Given the description of an element on the screen output the (x, y) to click on. 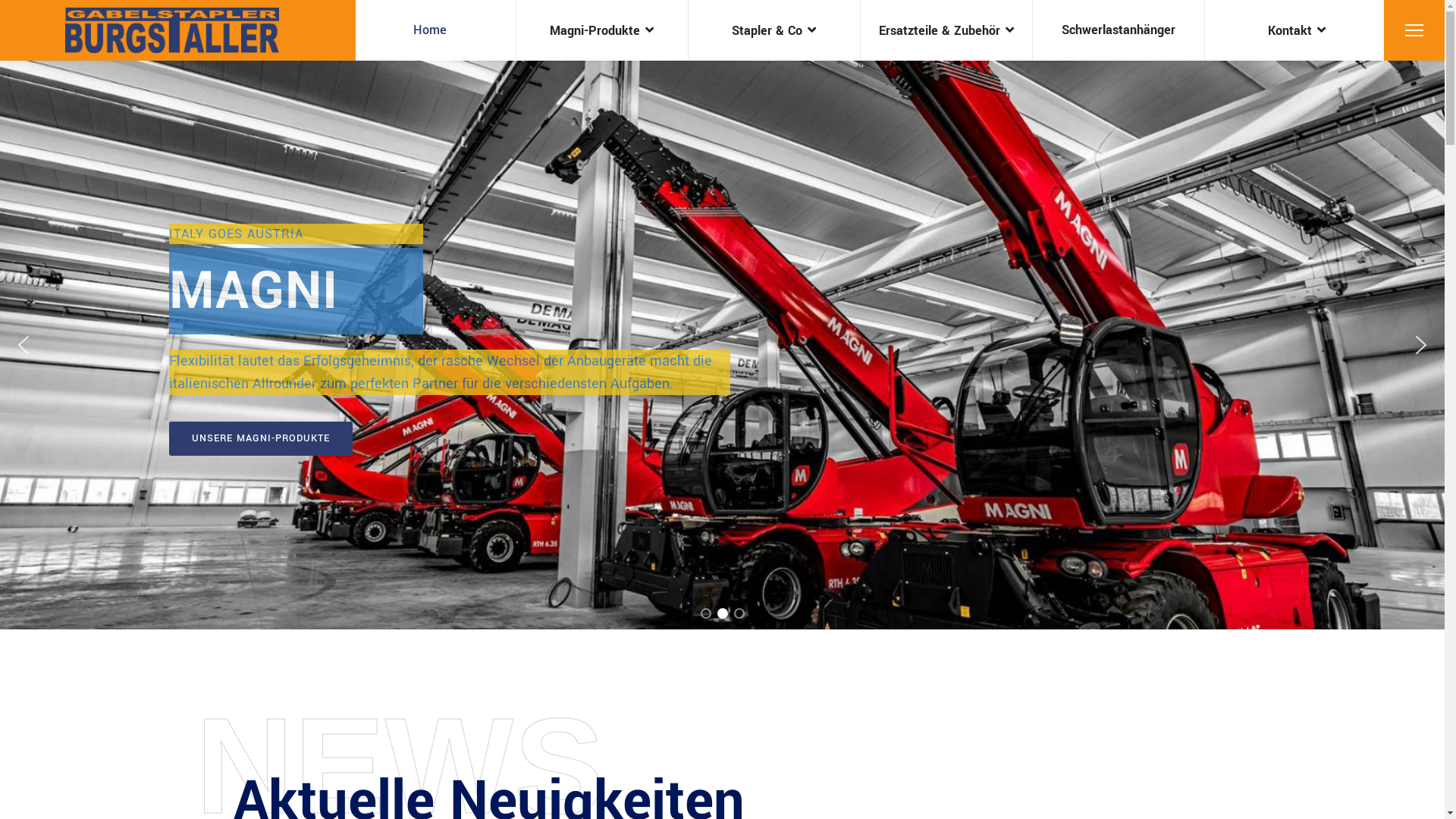
Kontakt Element type: text (1290, 30)
Stapler & Co Element type: text (773, 30)
Menu Element type: hover (1413, 30)
Home Element type: text (429, 29)
Magni-Produkte Element type: text (601, 30)
UNSERE MAGNI-PRODUKTE Element type: text (259, 438)
